Given the description of an element on the screen output the (x, y) to click on. 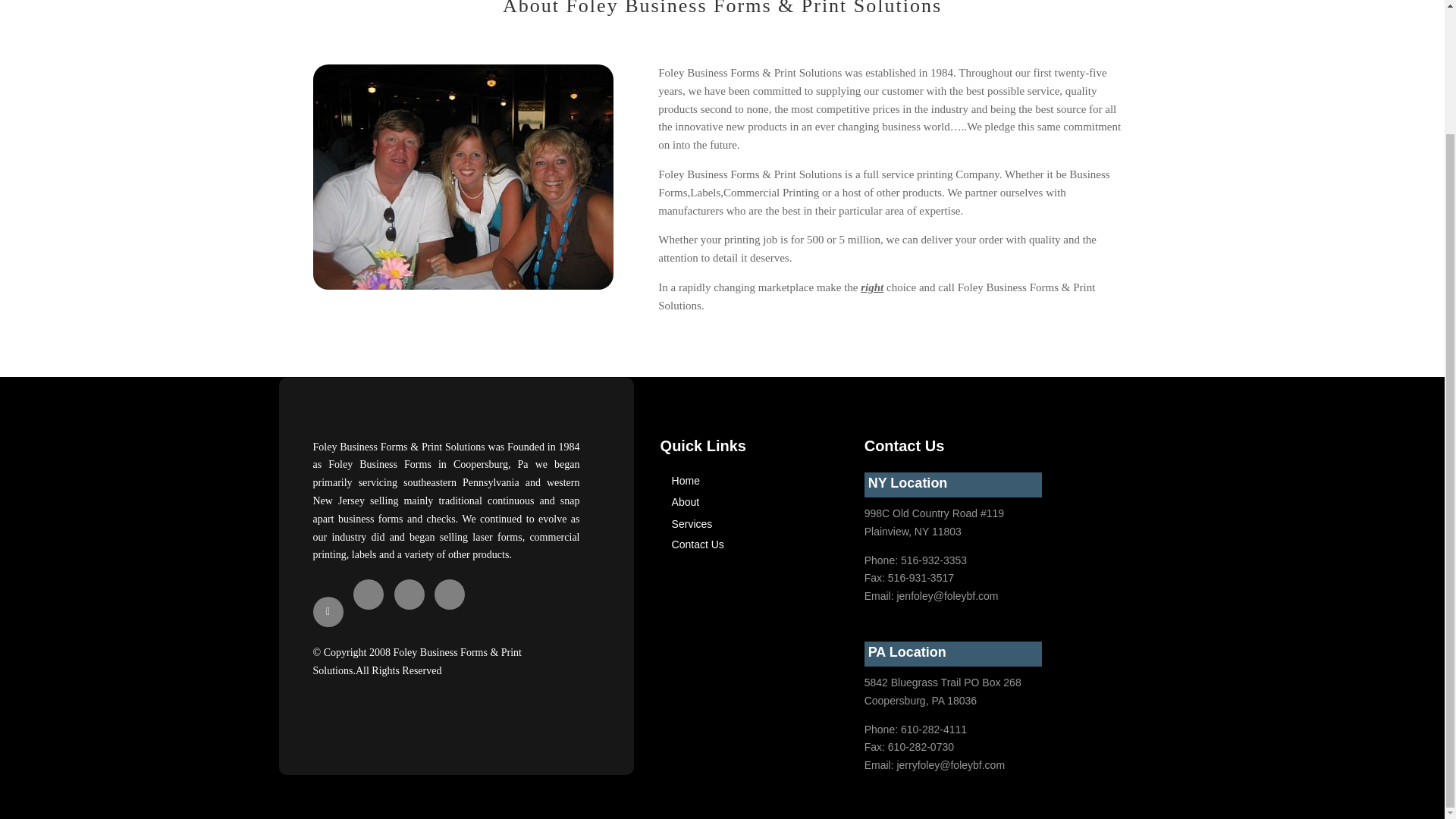
Services (692, 523)
About (685, 501)
Home (685, 480)
beach1 (462, 176)
Contact Us (697, 544)
Home (685, 480)
